Given the description of an element on the screen output the (x, y) to click on. 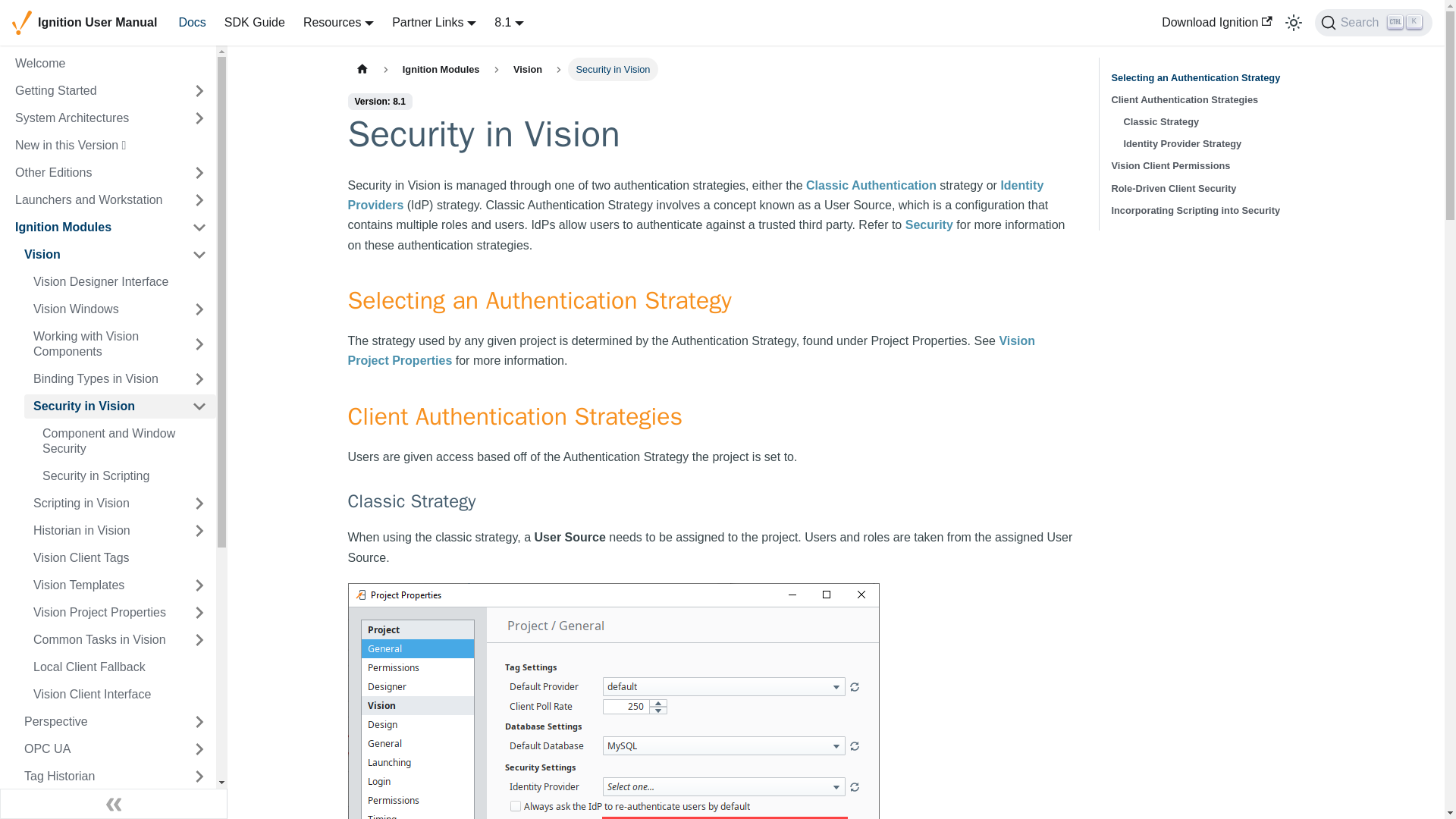
SDK Guide (254, 22)
Vision (98, 254)
Partner Links (433, 21)
Getting Started (94, 90)
Resources (338, 21)
Other Editions (94, 172)
Welcome (110, 63)
Download Ignition (1217, 22)
Collapse sidebar (113, 803)
Vision Windows (103, 309)
Launchers and Workstation (94, 200)
Ignition User Manual (84, 22)
Docs (1373, 22)
